Given the description of an element on the screen output the (x, y) to click on. 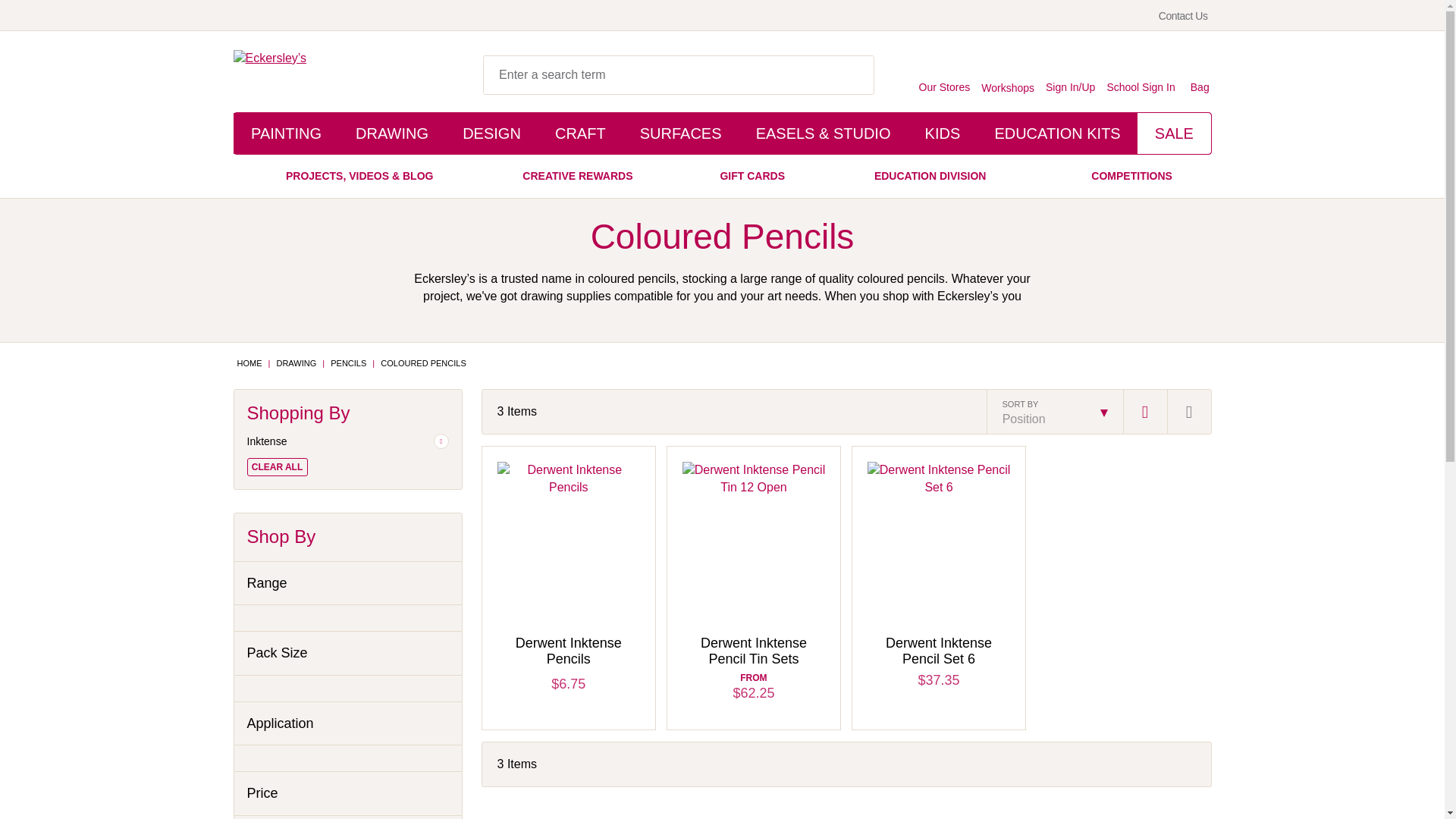
Our Stores (944, 72)
Workshops (1007, 74)
School Sign In (1140, 72)
Contact Us (1183, 15)
PAINTING (285, 133)
